Given the description of an element on the screen output the (x, y) to click on. 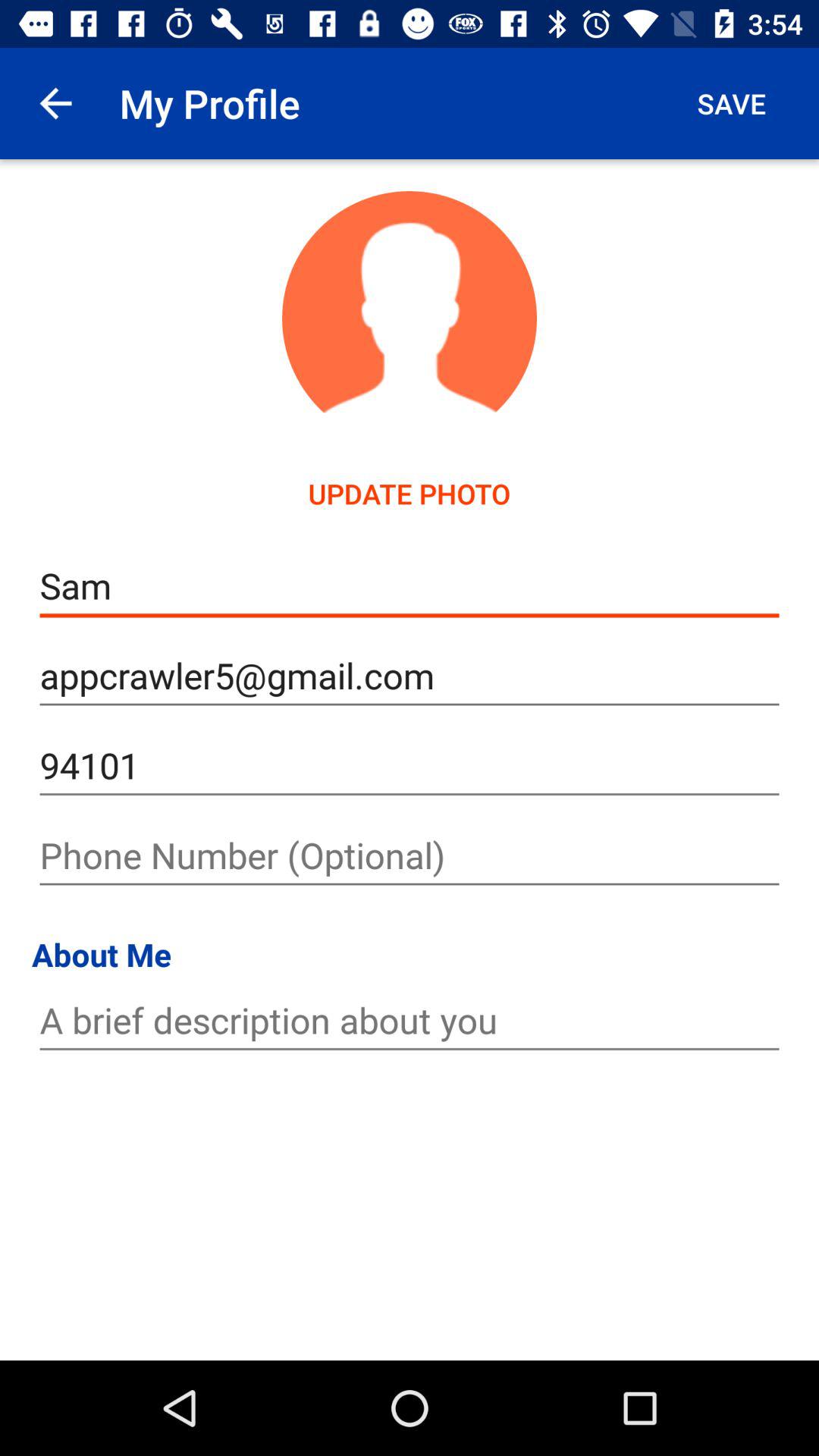
scroll until the update photo item (409, 493)
